Given the description of an element on the screen output the (x, y) to click on. 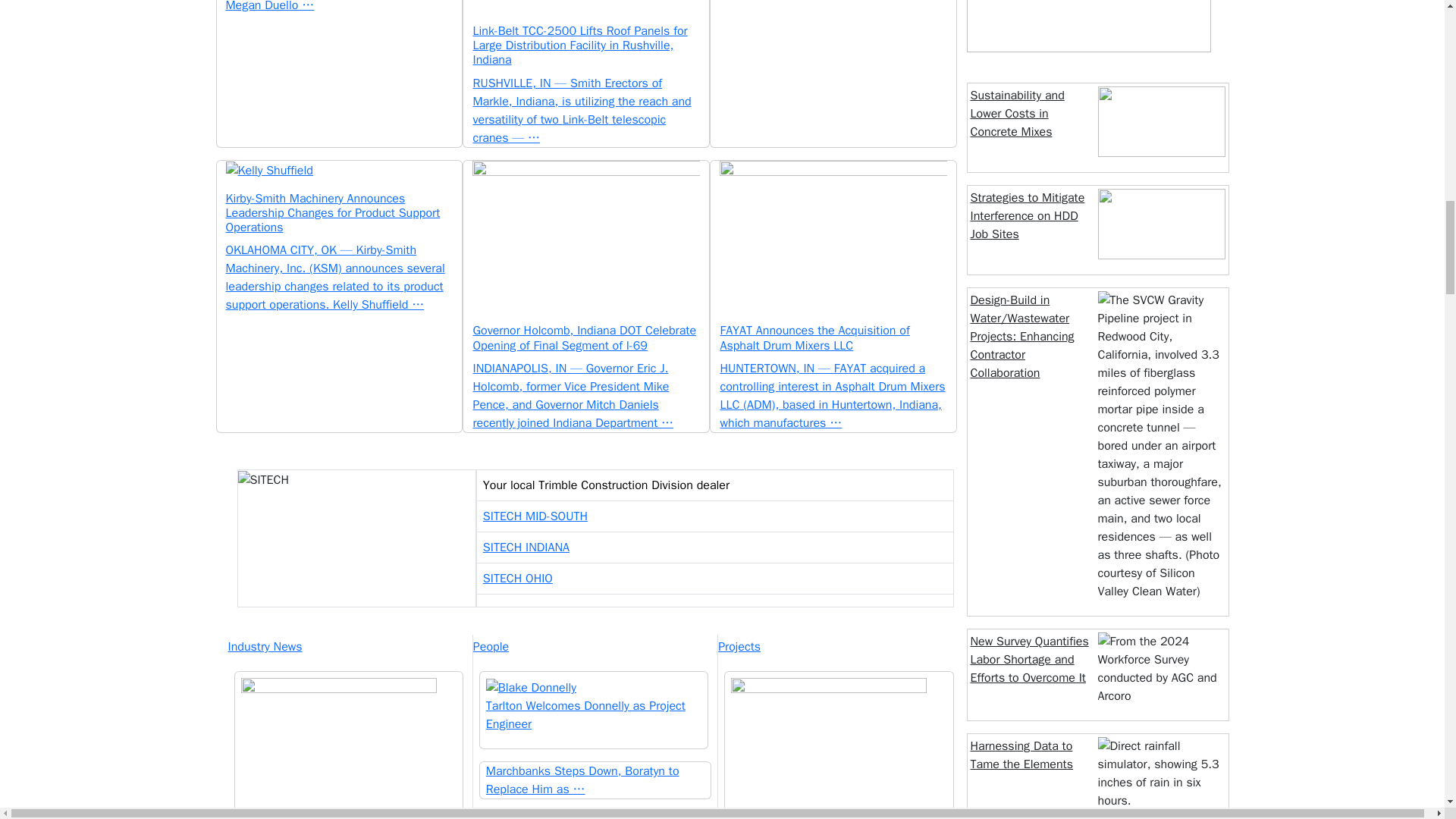
SITECH MID-SOUTH (535, 516)
SITECH INDIANA (526, 547)
SITECH OHIO (518, 578)
Industry News (349, 647)
